Given the description of an element on the screen output the (x, y) to click on. 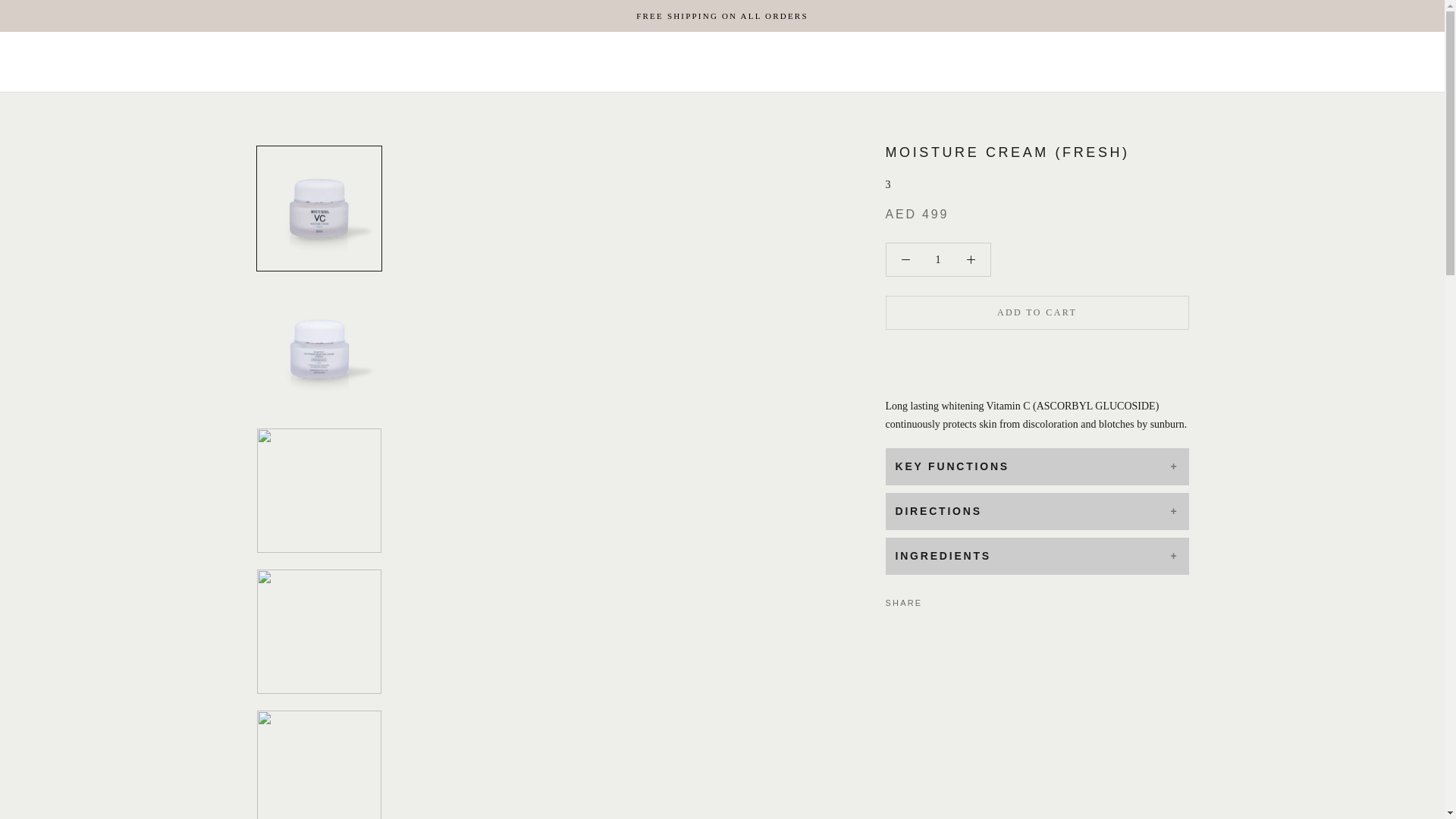
ADD TO CART (1037, 312)
1 (938, 259)
